Given the description of an element on the screen output the (x, y) to click on. 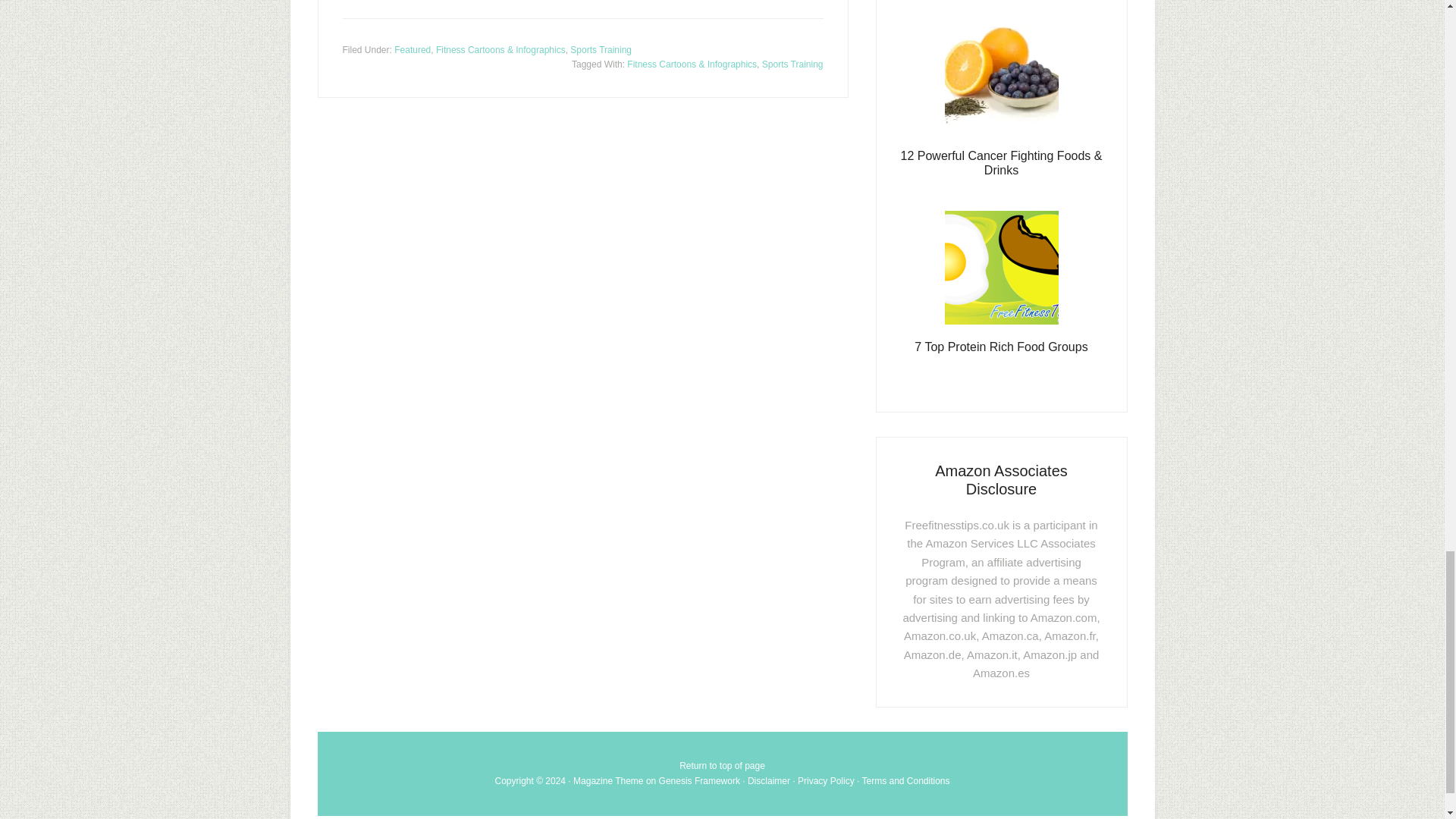
Featured (412, 49)
Sports Training (600, 49)
Sports Training (792, 63)
